Given the description of an element on the screen output the (x, y) to click on. 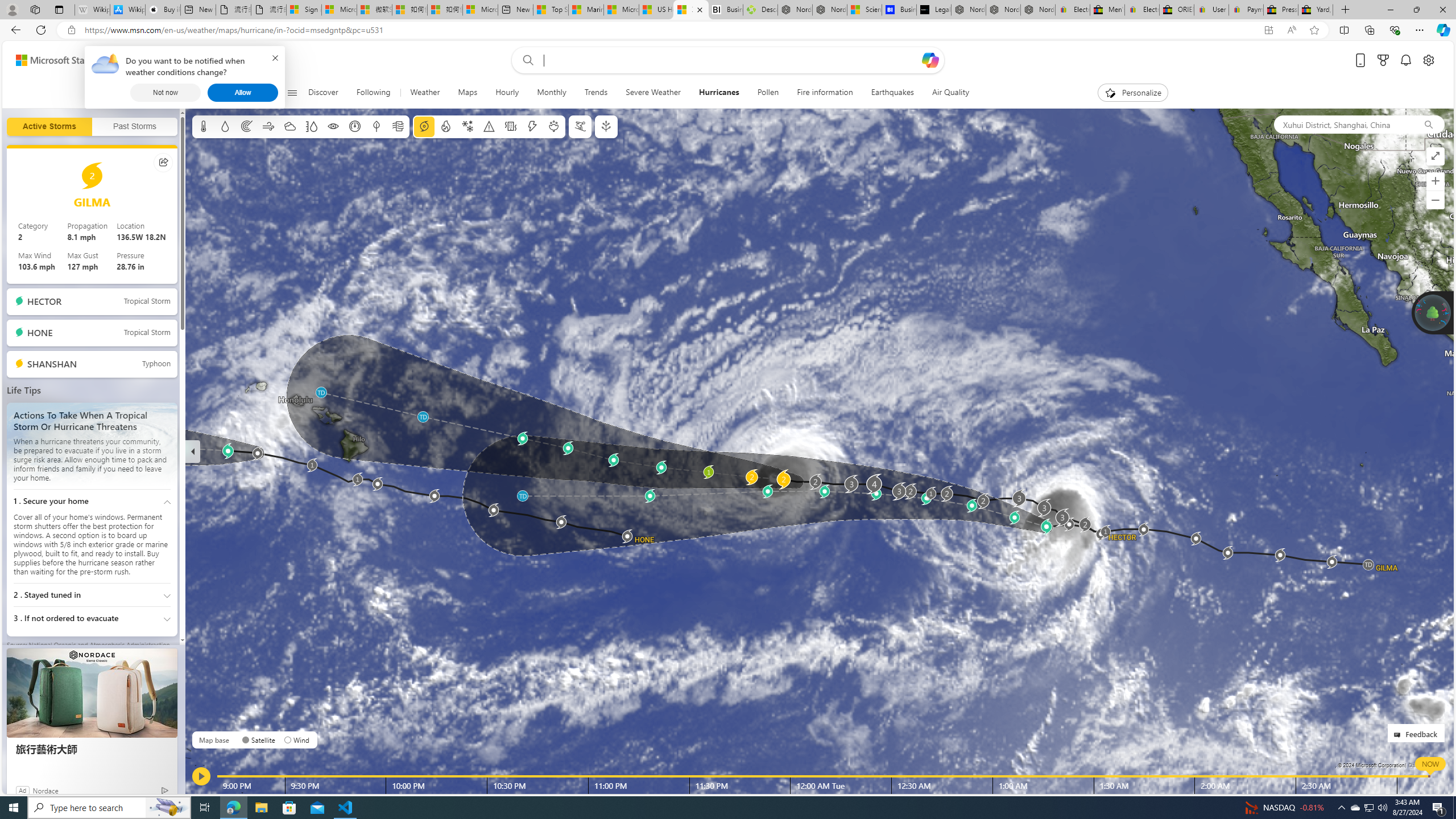
Radar (246, 126)
Fire information (445, 126)
Zoom in (1435, 180)
Pollen (767, 92)
Winter weather (467, 126)
Fire information (824, 92)
Severe Weather (652, 92)
Air Quality (950, 92)
